Given the description of an element on the screen output the (x, y) to click on. 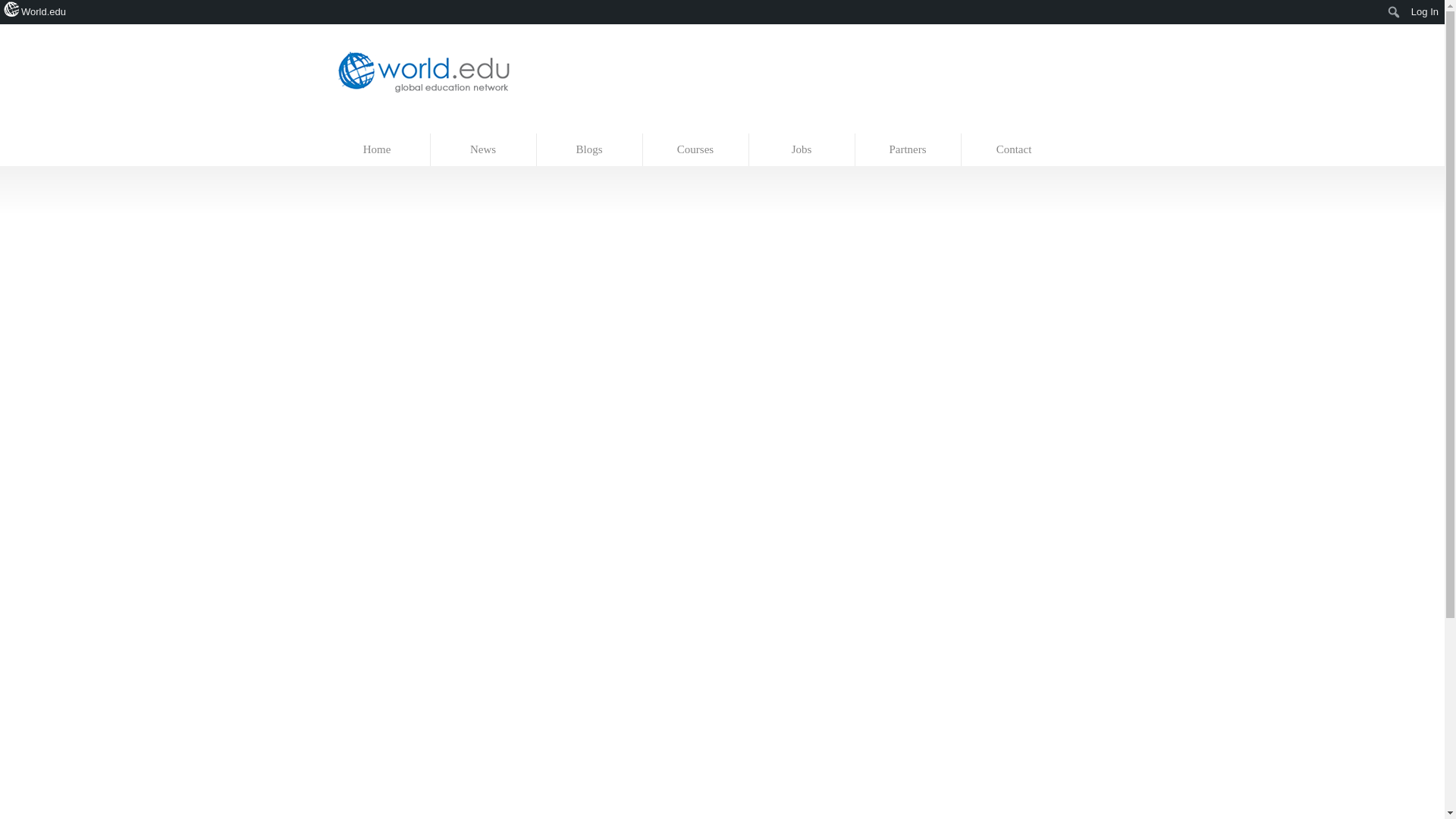
News (483, 149)
Partners (908, 149)
Skip to content (357, 125)
Contact (1013, 149)
Skip to content (357, 125)
Blogs (590, 149)
Jobs (802, 149)
Courses (696, 149)
Home (377, 149)
